Given the description of an element on the screen output the (x, y) to click on. 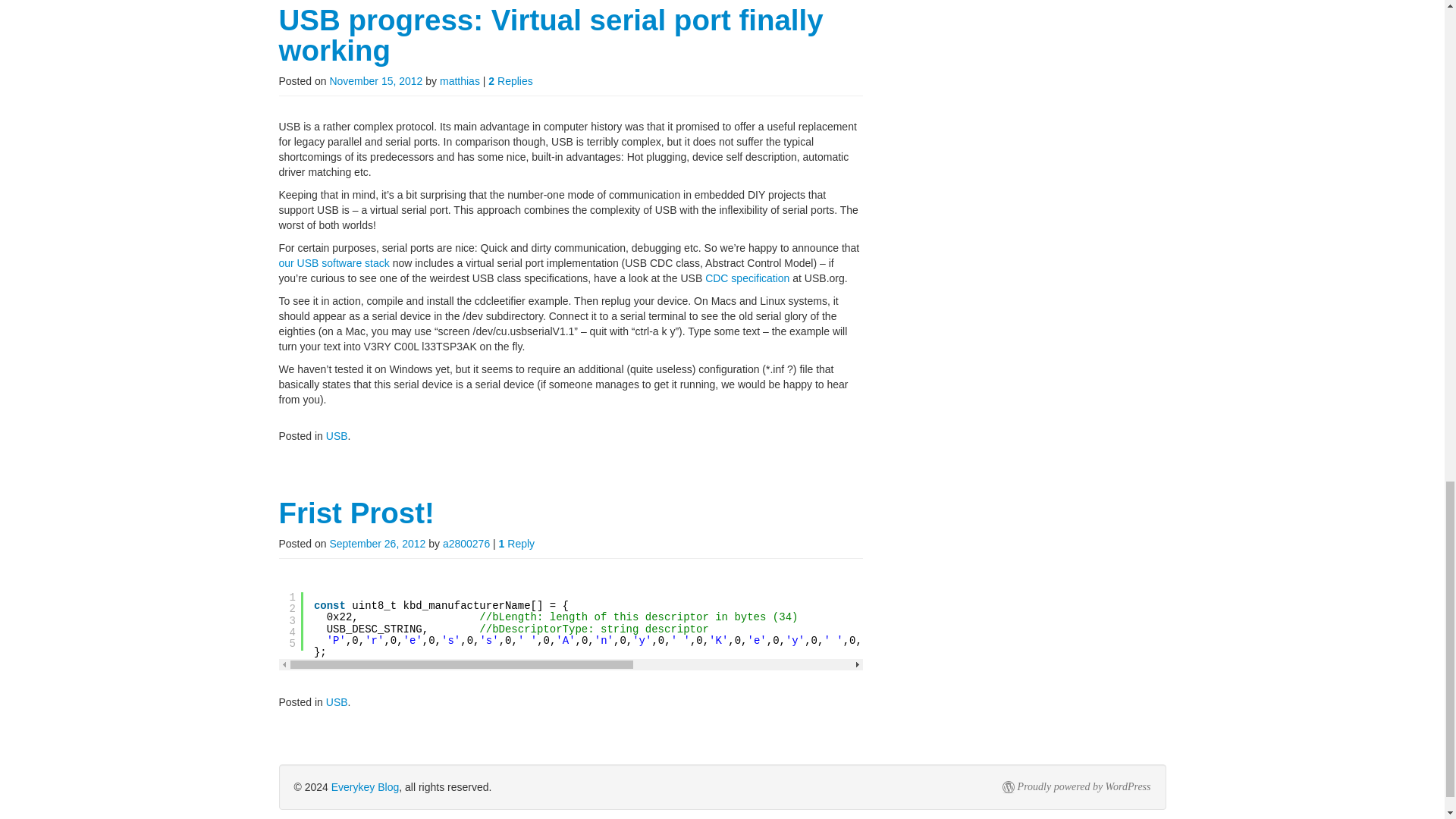
1 Reply (516, 543)
a2800276 (465, 543)
View all posts by a2800276 (465, 543)
September 26, 2012 (377, 543)
November 15, 2012 (375, 80)
View all posts by matthias (459, 80)
our USB software stack (334, 263)
Permalink to Frist Prost! (356, 512)
09:30 (375, 80)
